Given the description of an element on the screen output the (x, y) to click on. 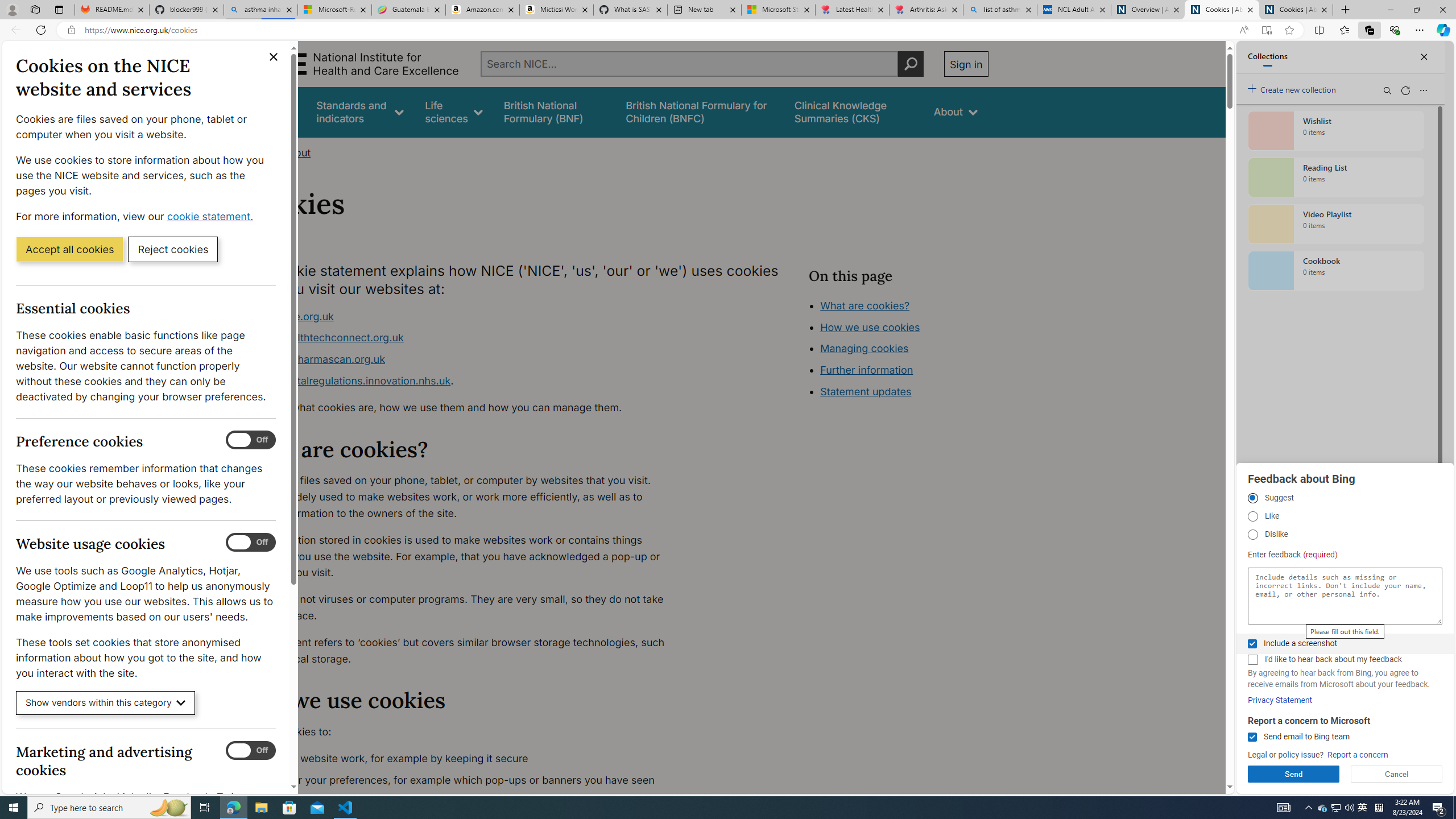
Restore (1416, 9)
About (955, 111)
cookie statement. (Opens in a new window) (211, 215)
